Given the description of an element on the screen output the (x, y) to click on. 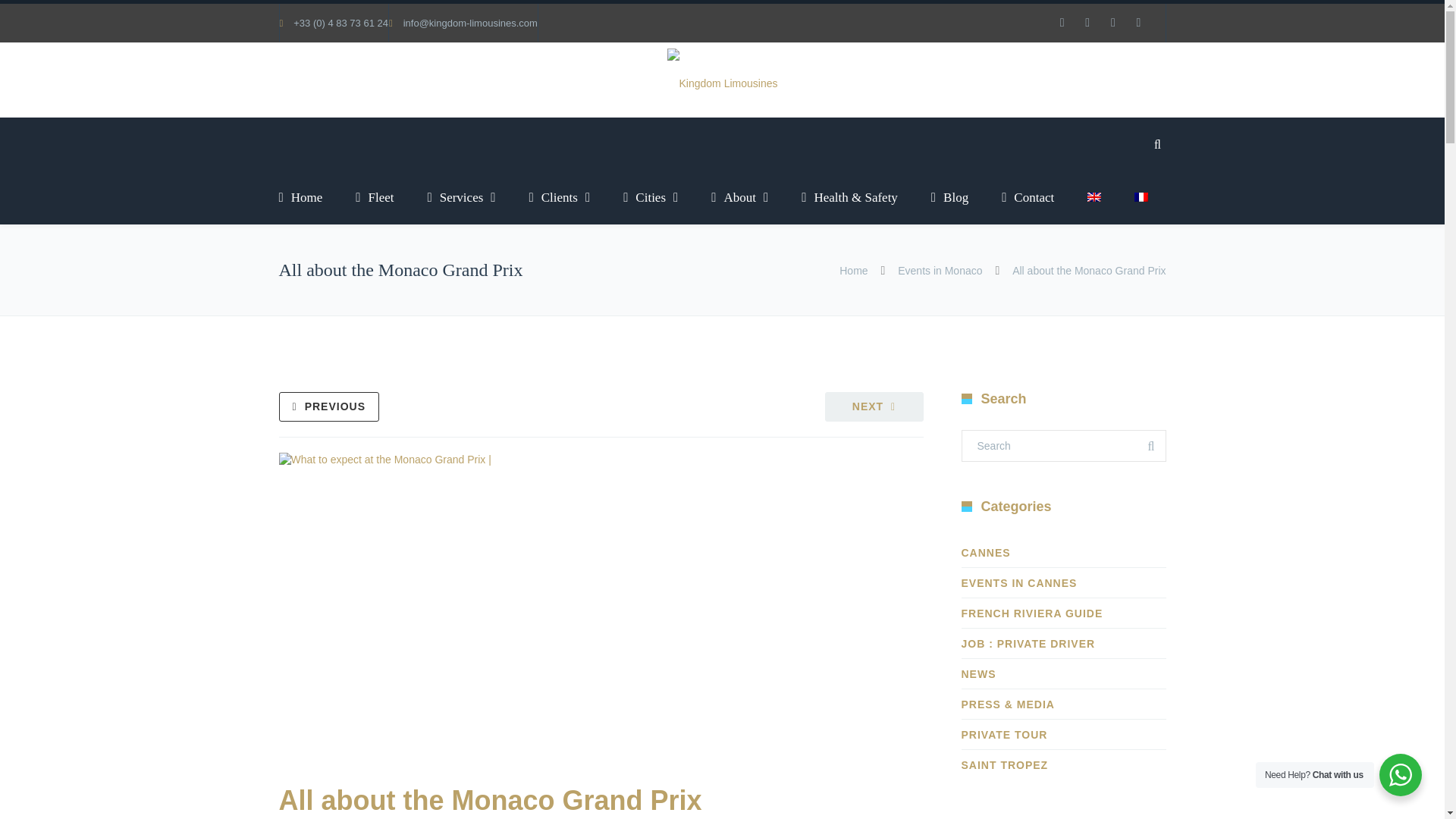
Fleet (374, 197)
Clients (559, 197)
Home (309, 197)
Services (461, 197)
Kingdom Limousines (721, 82)
Cities (650, 197)
